Given the description of an element on the screen output the (x, y) to click on. 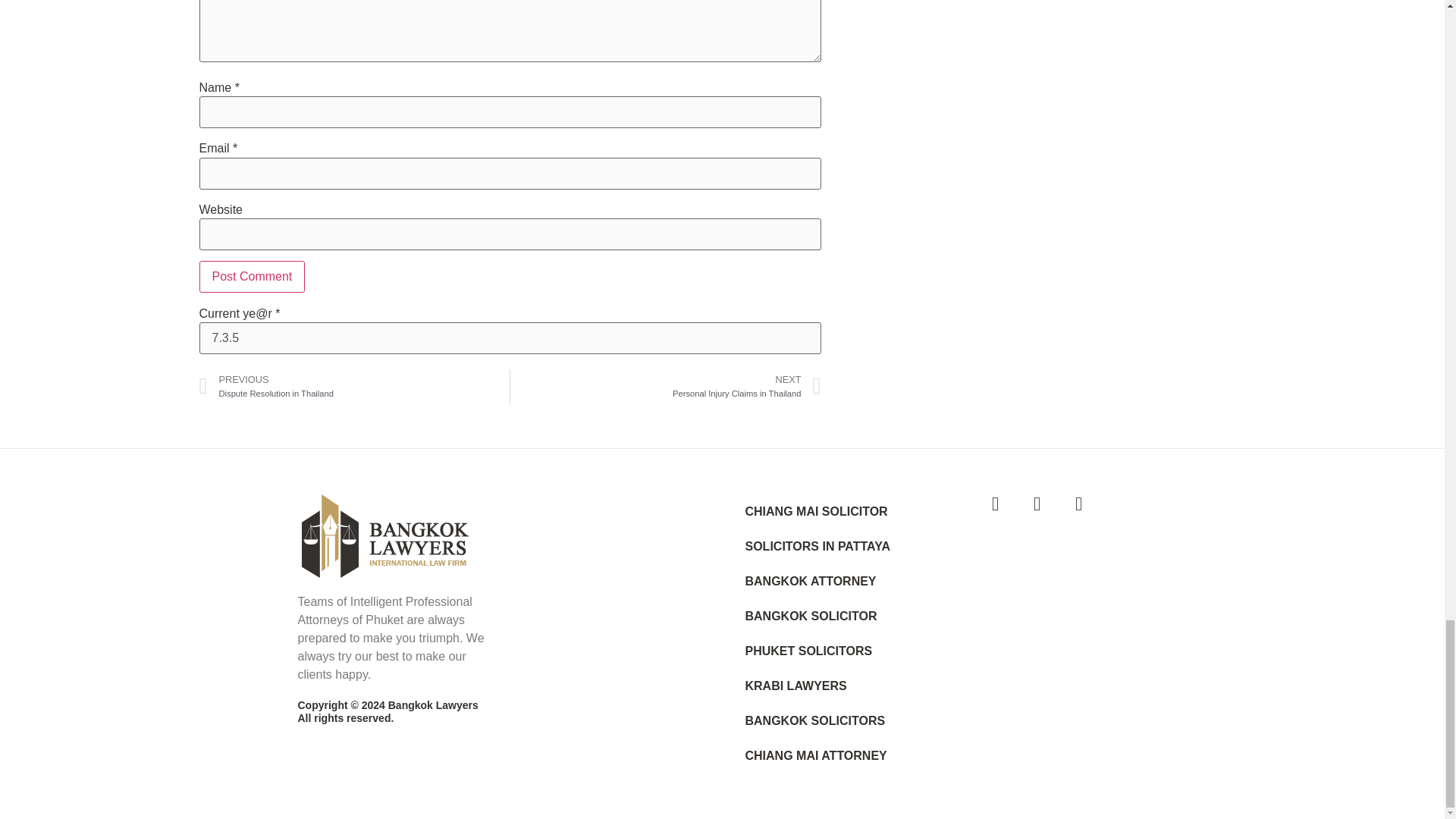
Post Comment (251, 276)
7.3.5 (509, 337)
